Given the description of an element on the screen output the (x, y) to click on. 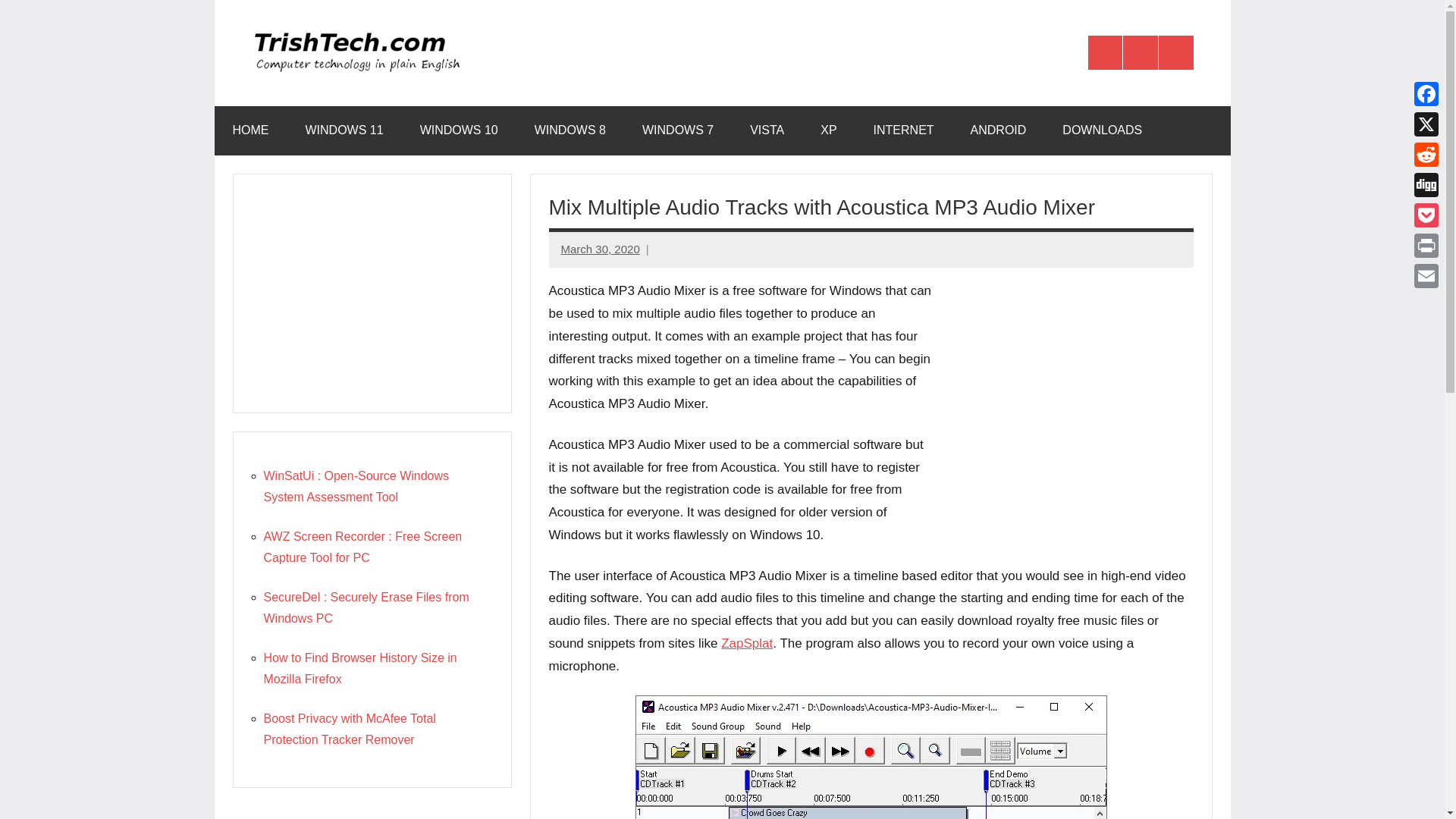
WINDOWS 10 (458, 130)
YouTube (1175, 53)
Advertisement (371, 812)
ZapSplat (746, 643)
Facebook (1425, 93)
SecureDel : Securely Erase Files from Windows PC (365, 607)
Reddit (1425, 154)
HOME (250, 130)
X (1425, 123)
Reddit (1425, 154)
X (1425, 123)
Boost Privacy with McAfee Total Protection Tracker Remover (349, 728)
WinSatUi : Open-Source Windows System Assessment Tool (356, 486)
Pocket (1425, 214)
VISTA (767, 130)
